Given the description of an element on the screen output the (x, y) to click on. 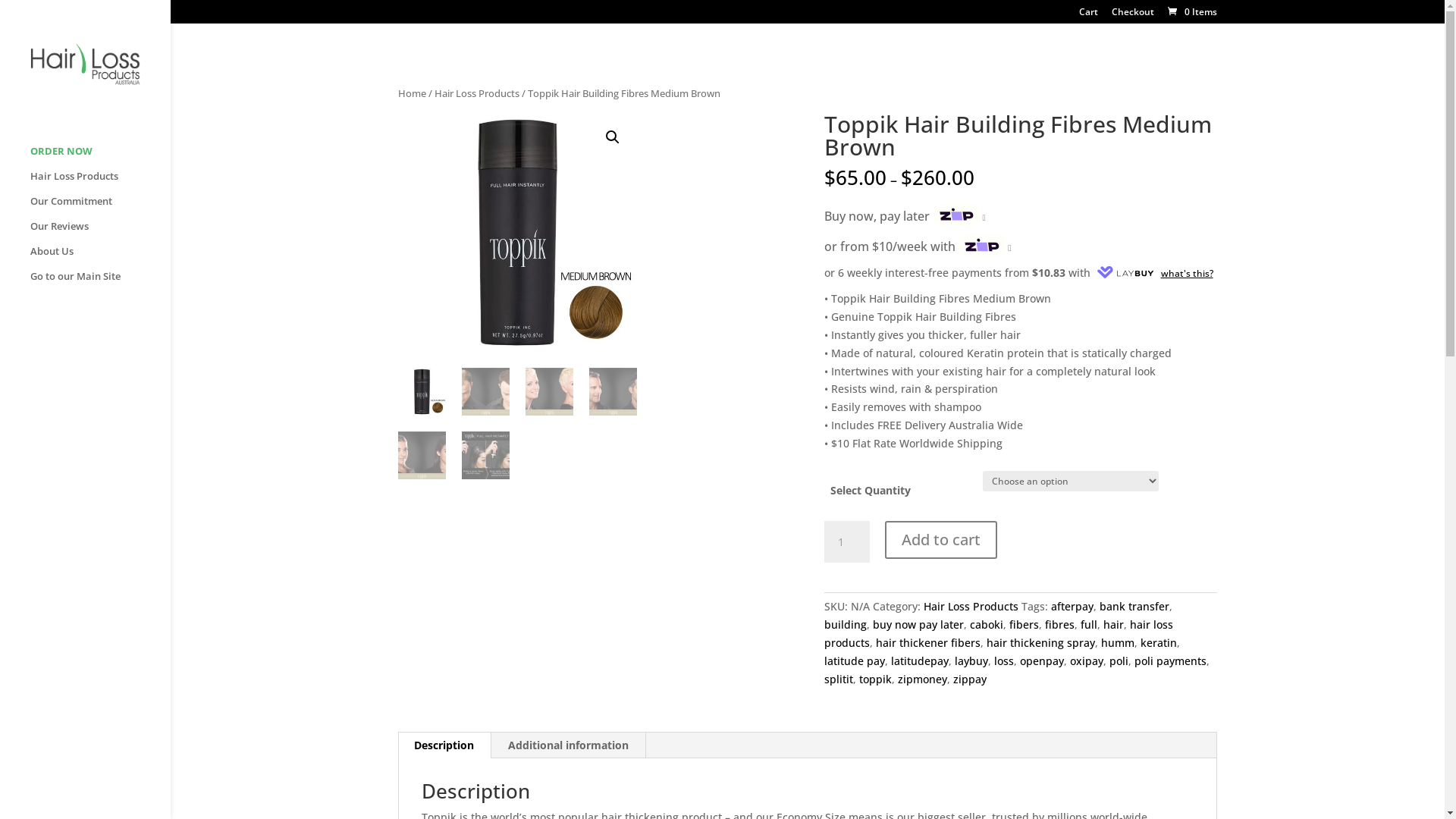
hair loss products Element type: text (998, 633)
hair thickener fibers Element type: text (927, 642)
what's this? Element type: text (1153, 272)
keratin Element type: text (1158, 642)
toppik Element type: text (875, 678)
caboki Element type: text (986, 624)
0 Items Element type: text (1191, 11)
poli payments Element type: text (1170, 660)
Additional information Element type: text (568, 745)
bank transfer Element type: text (1134, 606)
latitudepay Element type: text (919, 660)
latitude pay Element type: text (854, 660)
Checkout Element type: text (1132, 15)
building Element type: text (845, 624)
buy now pay later Element type: text (917, 624)
Hair Loss Products Element type: text (970, 606)
splitit Element type: text (838, 678)
About Us Element type: text (100, 257)
Toppik-Medium-Brown.jpg Element type: hover (517, 231)
Home Element type: text (412, 93)
full Element type: text (1088, 624)
afterpay Element type: text (1072, 606)
ORDER NOW Element type: text (100, 157)
Description Element type: text (443, 745)
humm Element type: text (1117, 642)
Our Commitment Element type: text (100, 207)
laybuy Element type: text (971, 660)
hair Element type: text (1113, 624)
fibers Element type: text (1023, 624)
Our Reviews Element type: text (100, 232)
zippay Element type: text (969, 678)
oxipay Element type: text (1086, 660)
Go to our Main Site Element type: text (100, 282)
hair thickening spray Element type: text (1040, 642)
Add to cart Element type: text (940, 539)
openpay Element type: text (1041, 660)
loss Element type: text (1003, 660)
Hair Loss Products Element type: text (476, 93)
poli Element type: text (1118, 660)
Hair Loss Products Element type: text (100, 182)
Cart Element type: text (1088, 15)
fibres Element type: text (1059, 624)
zipmoney Element type: text (922, 678)
